Given the description of an element on the screen output the (x, y) to click on. 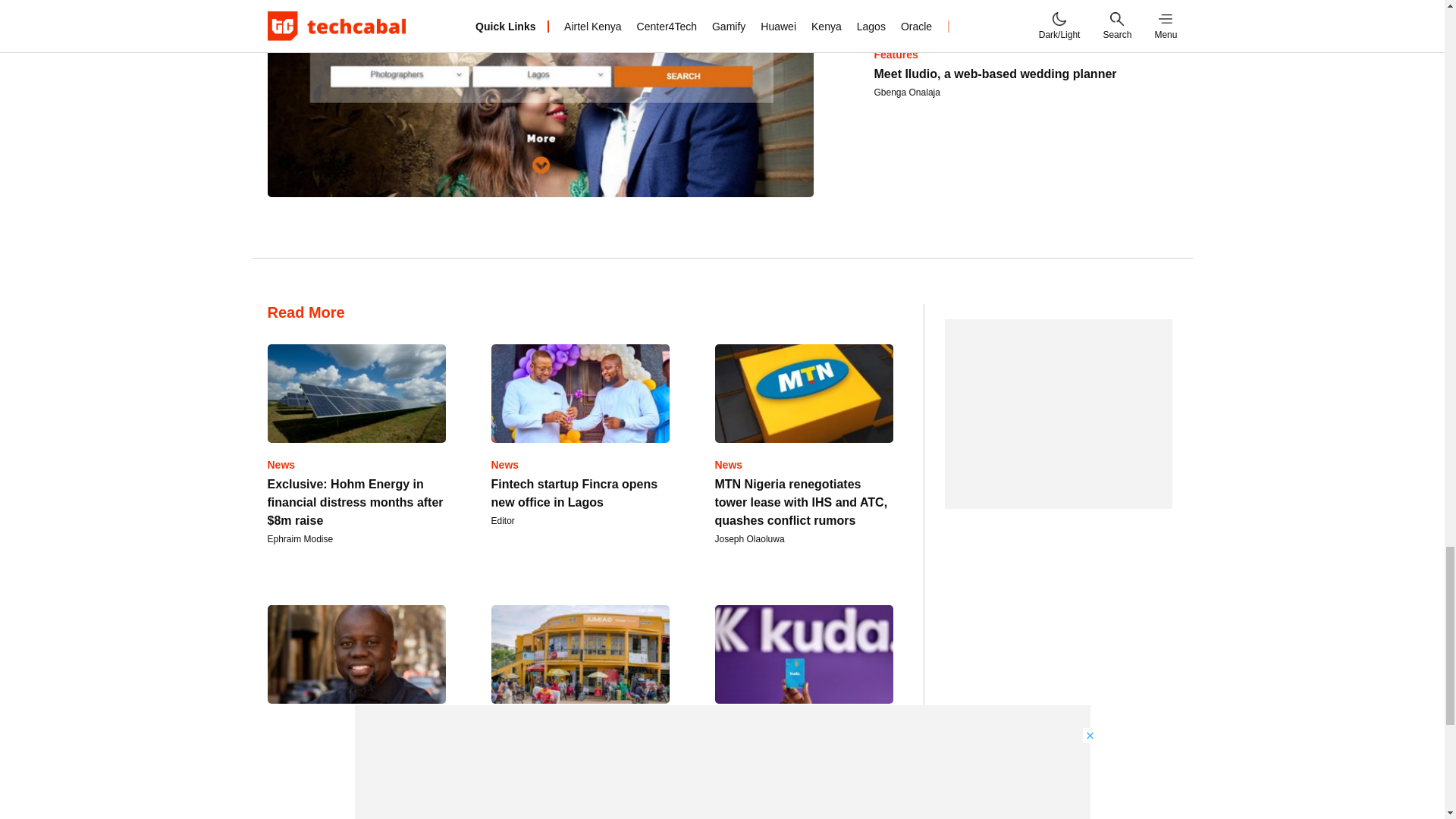
Posts by Frank Eleanya (295, 799)
Posts by Editor (503, 520)
Posts by Gbenga Onalaja (906, 91)
Posts by Ephraim Modise (299, 538)
Posts by Joseph Olaoluwa (526, 799)
Posts by Joseph Olaoluwa (749, 538)
Posts by Ganiu Oloruntade (750, 799)
